Given the description of an element on the screen output the (x, y) to click on. 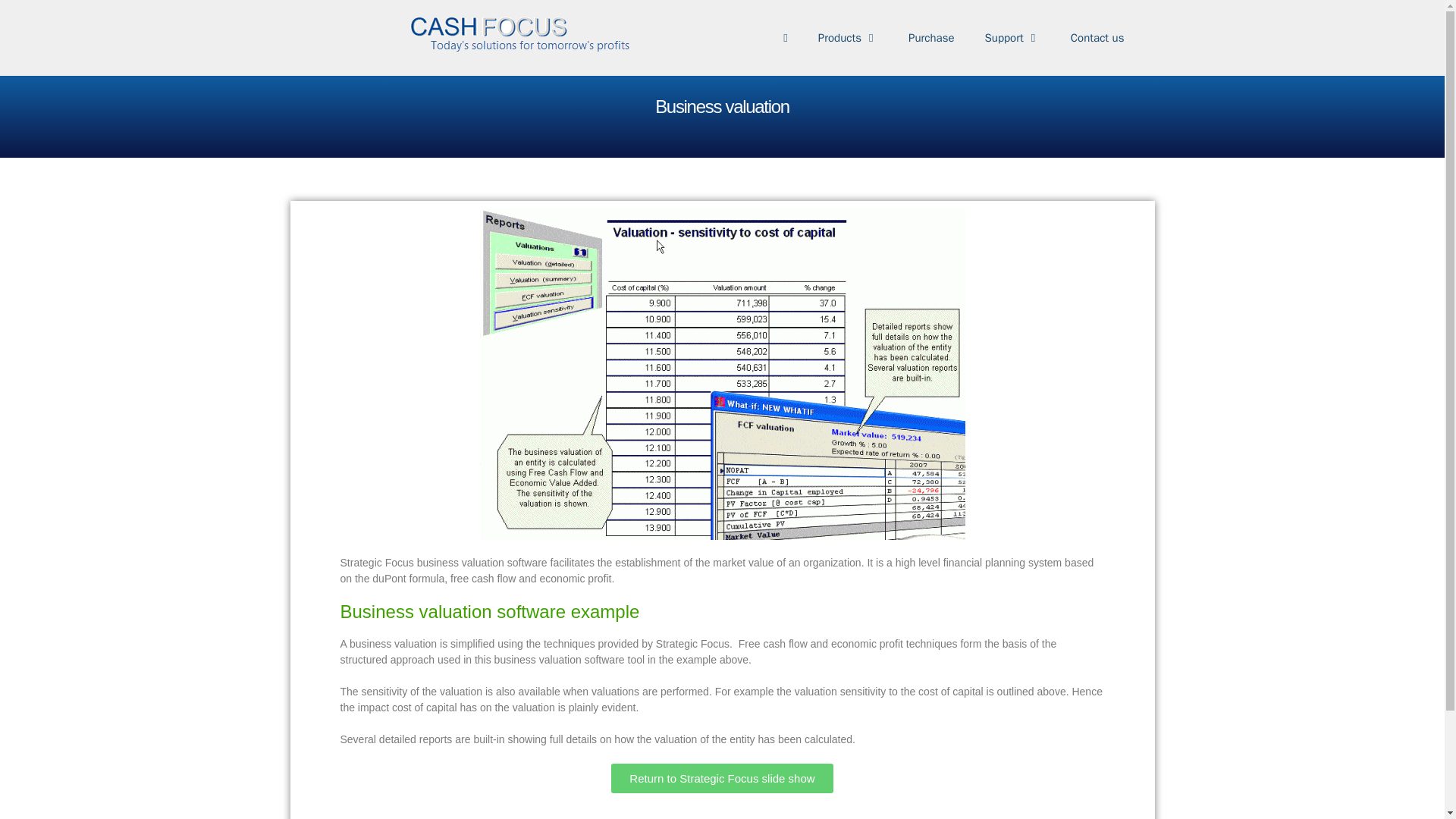
Purchase (931, 37)
Support (1012, 37)
Return to Strategic Focus slide show (721, 778)
Contact us (1097, 37)
Products (848, 37)
